Given the description of an element on the screen output the (x, y) to click on. 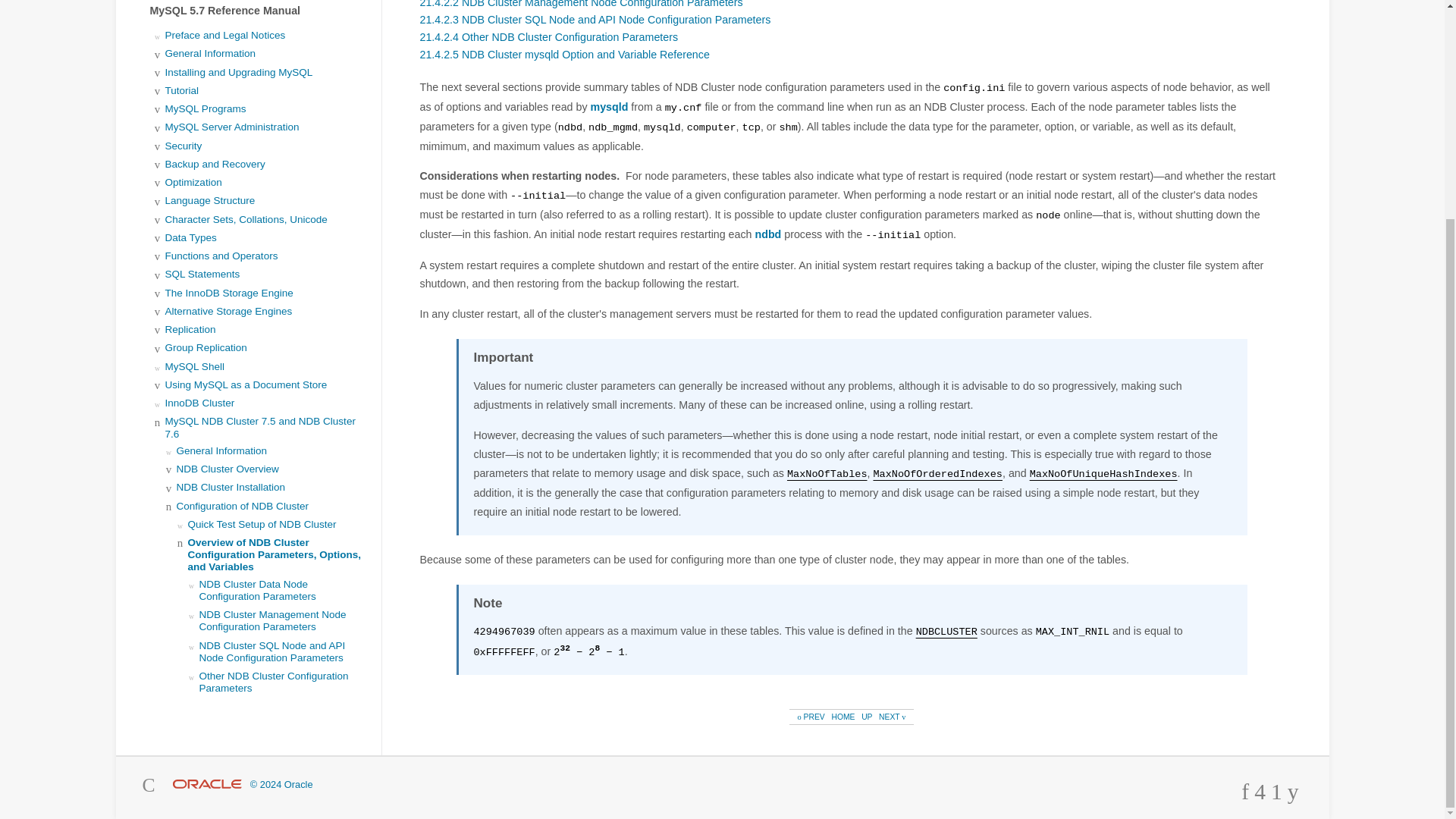
Preface and Legal Notices (225, 34)
General Information (210, 52)
Installing and Upgrading MySQL (239, 71)
